Given the description of an element on the screen output the (x, y) to click on. 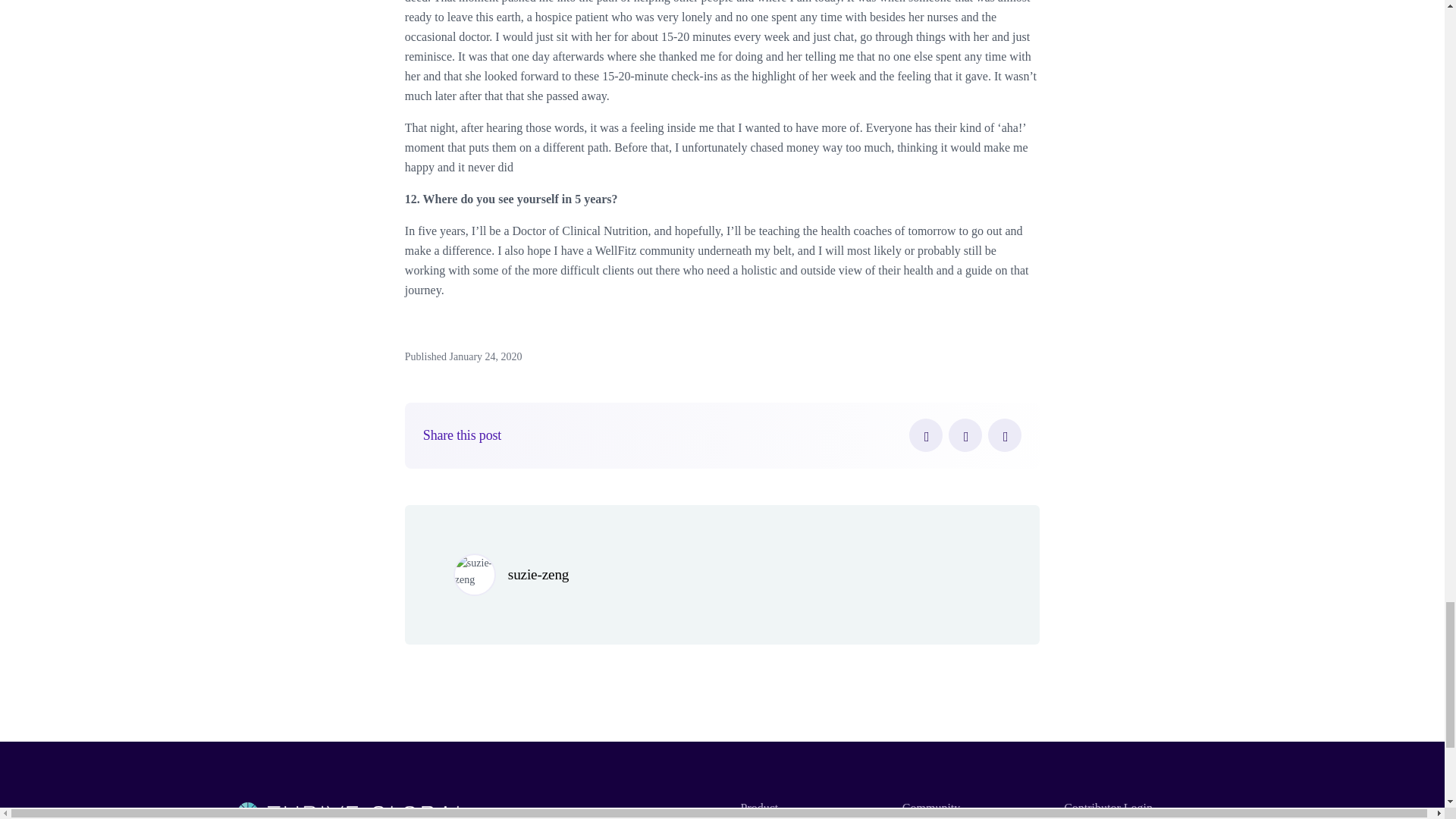
Facebook (925, 435)
LinkedIn (1005, 435)
suzie-zeng (538, 574)
Twitter (965, 435)
